Given the description of an element on the screen output the (x, y) to click on. 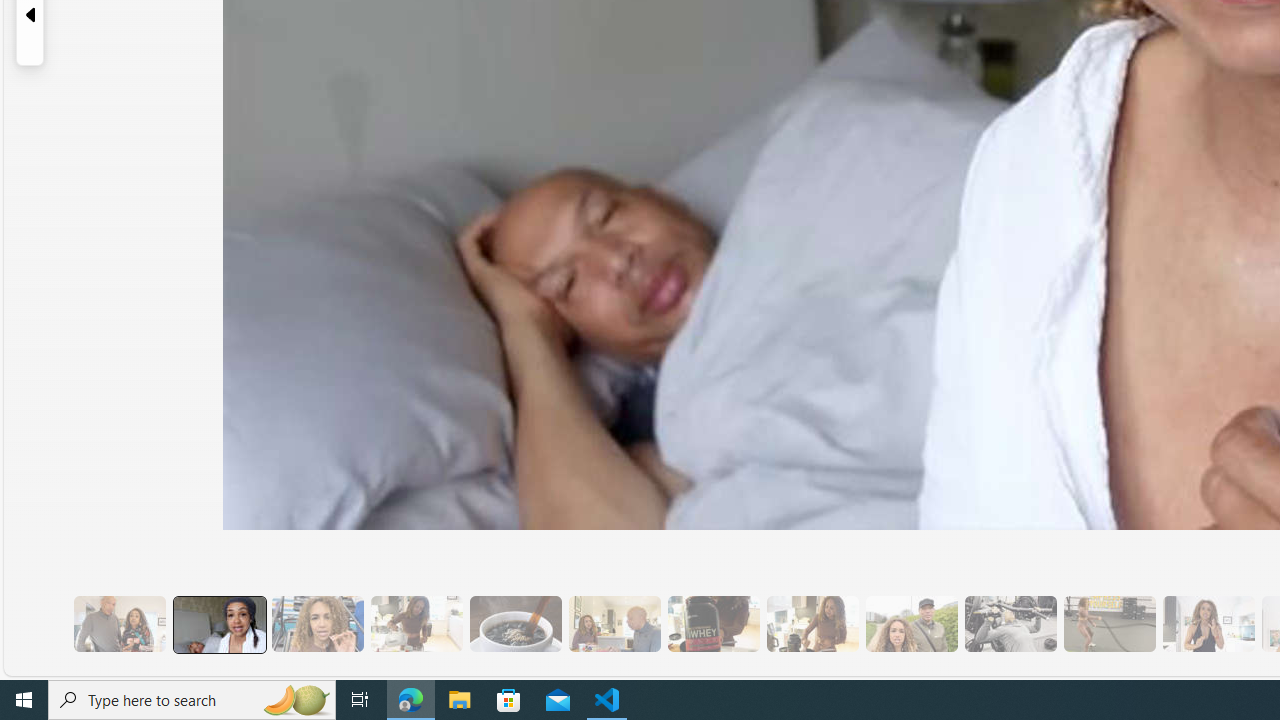
3 They Drink Lemon Tea (416, 624)
3 They Drink Lemon Tea (416, 624)
11 They Eat More Protein for Breakfast (1208, 624)
2 They Use Protein Powder for Flavor (317, 624)
9 They Do Bench Exercises (1010, 624)
8 They Walk to the Gym (911, 624)
1 We Eat a Protein-Packed Pre-Workout Snack (219, 624)
9 They Do Bench Exercises (1010, 624)
1 We Eat a Protein-Packed Pre-Workout Snack (217, 624)
8 They Walk to the Gym (911, 624)
5 She Eats Less Than Her Husband (614, 624)
11 They Eat More Protein for Breakfast (1208, 624)
10 Then, They Do HIIT Cardio (1108, 624)
6 Since Eating More Protein Her Training Has Improved (713, 624)
